Given the description of an element on the screen output the (x, y) to click on. 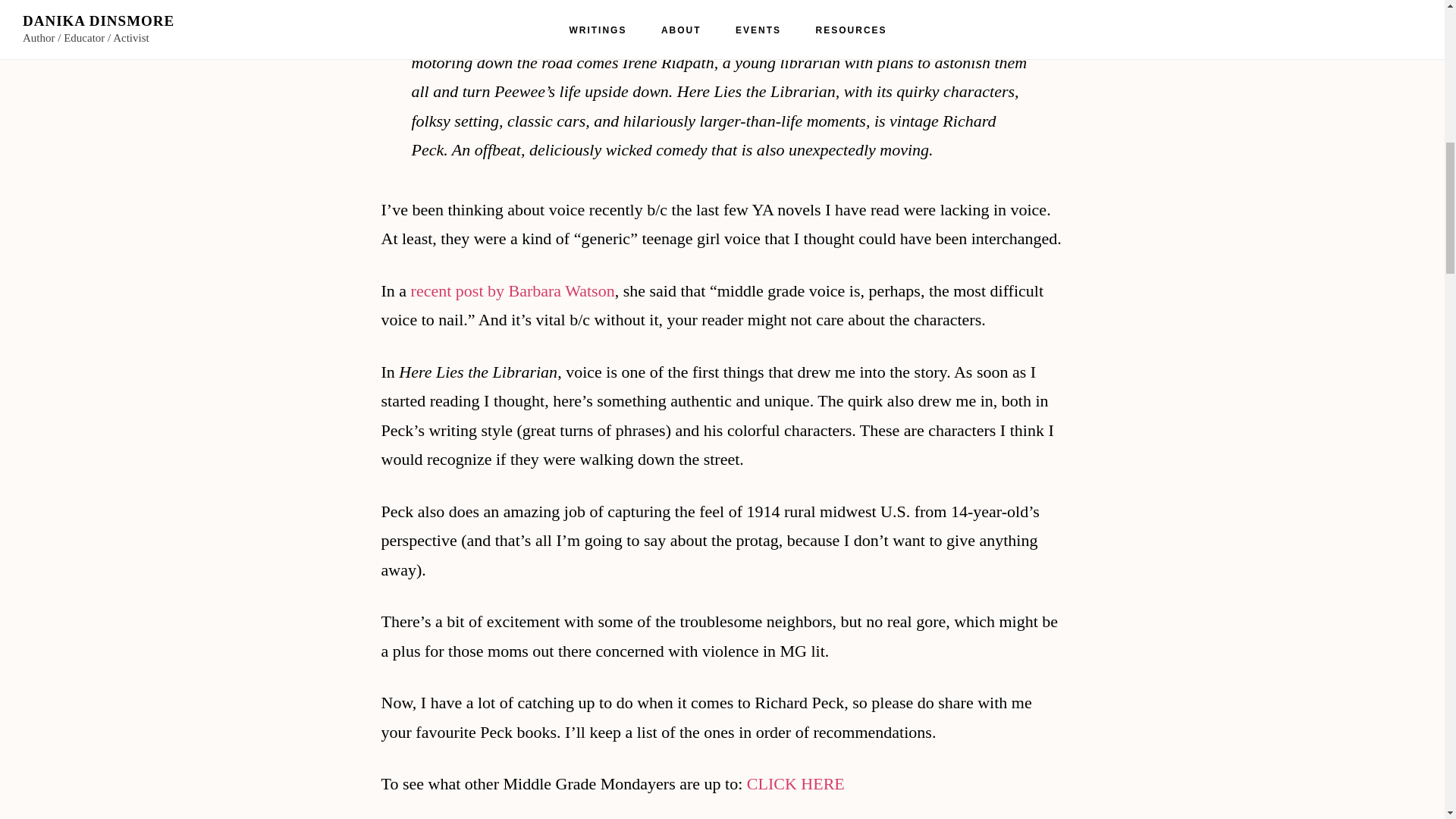
CLICK HERE (795, 783)
recent post by Barbara Watson (512, 290)
